Given the description of an element on the screen output the (x, y) to click on. 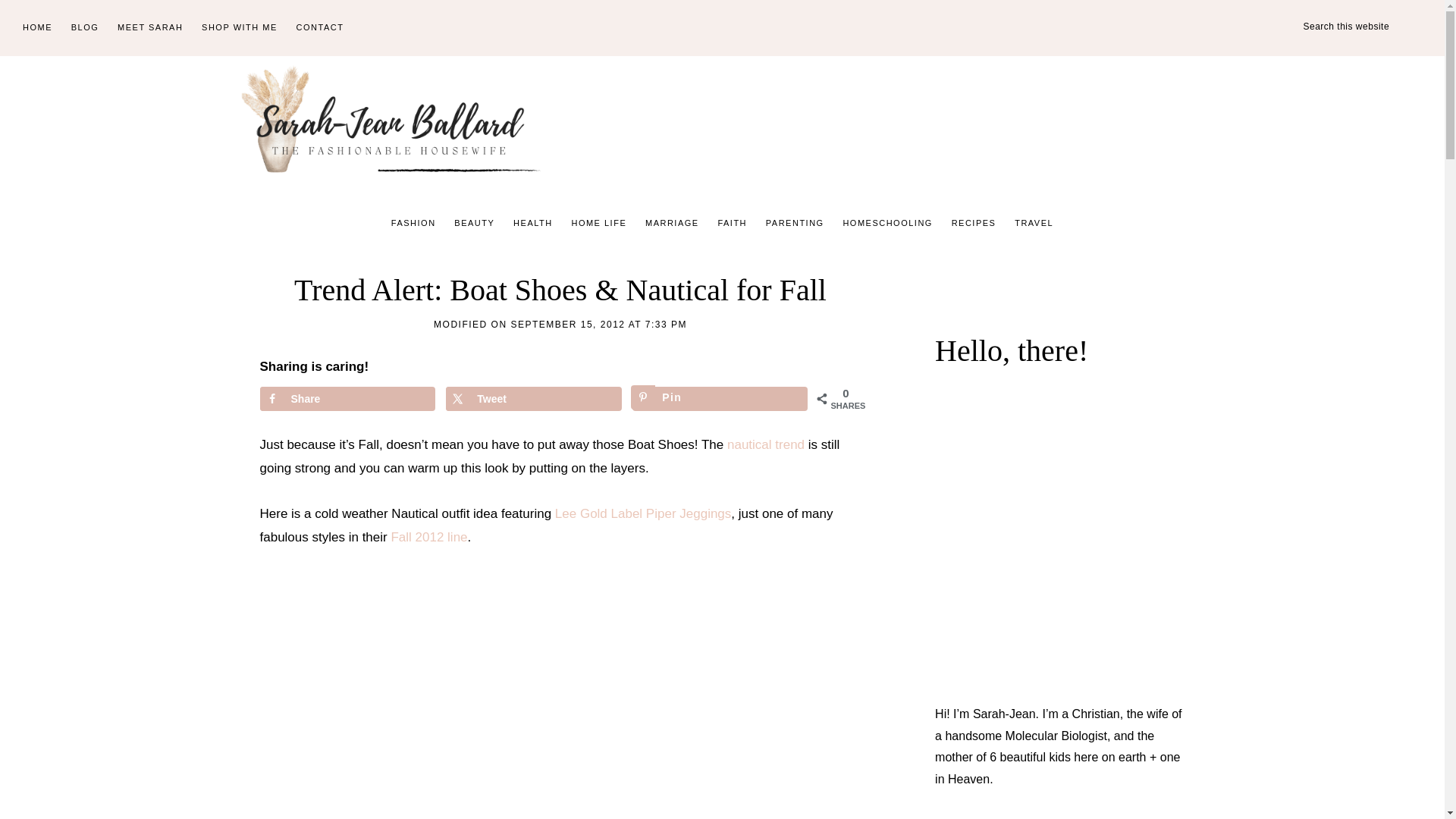
BLOG (85, 27)
BEAUTY (474, 223)
HEALTH (532, 223)
CONTACT (320, 27)
SHOP WITH ME (239, 27)
FASHION (414, 223)
HOME (36, 27)
Share on X (533, 398)
